Given the description of an element on the screen output the (x, y) to click on. 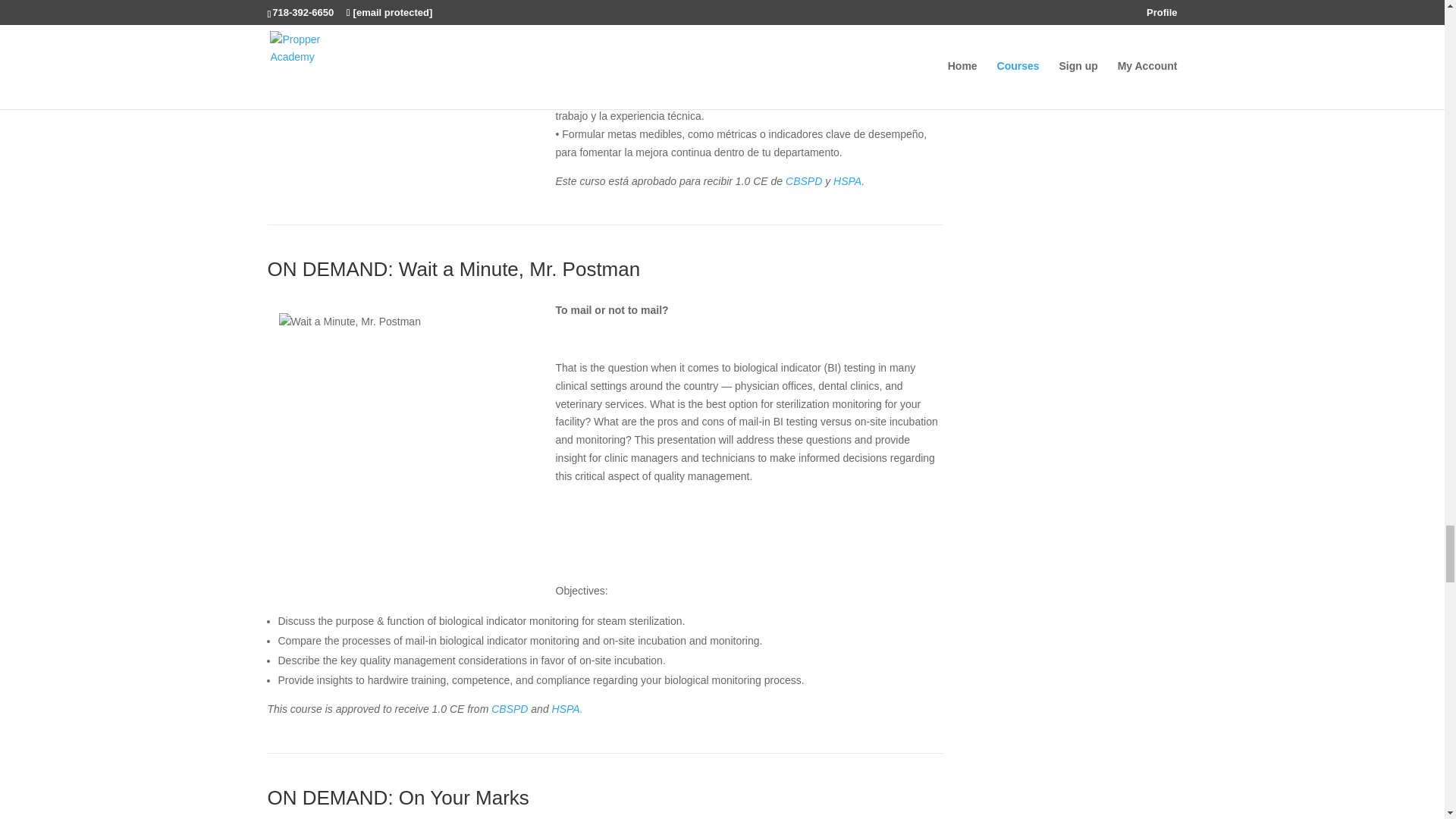
ON DEMAND: Wait a Minute, Mr. Postman (453, 268)
ON DEMAND: On Your Marks (397, 797)
